Given the description of an element on the screen output the (x, y) to click on. 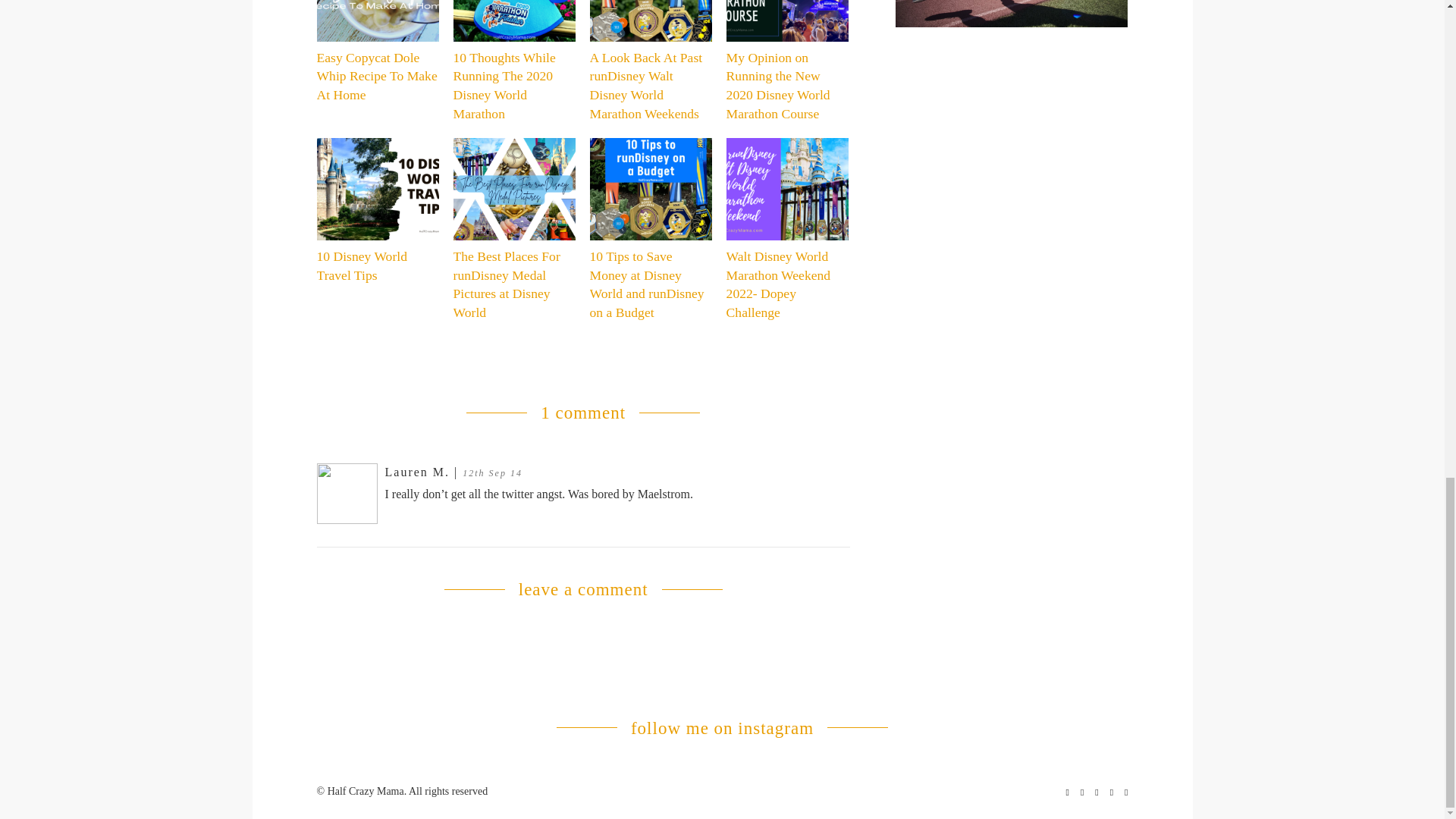
Easy Copycat Dole Whip Recipe To Make At Home (378, 52)
10 Thoughts While Running The 2020 Disney World Marathon (514, 61)
10 Thoughts While Running The 2020 Disney World Marathon (514, 61)
Easy Copycat Dole Whip Recipe To Make At Home (378, 52)
